Given the description of an element on the screen output the (x, y) to click on. 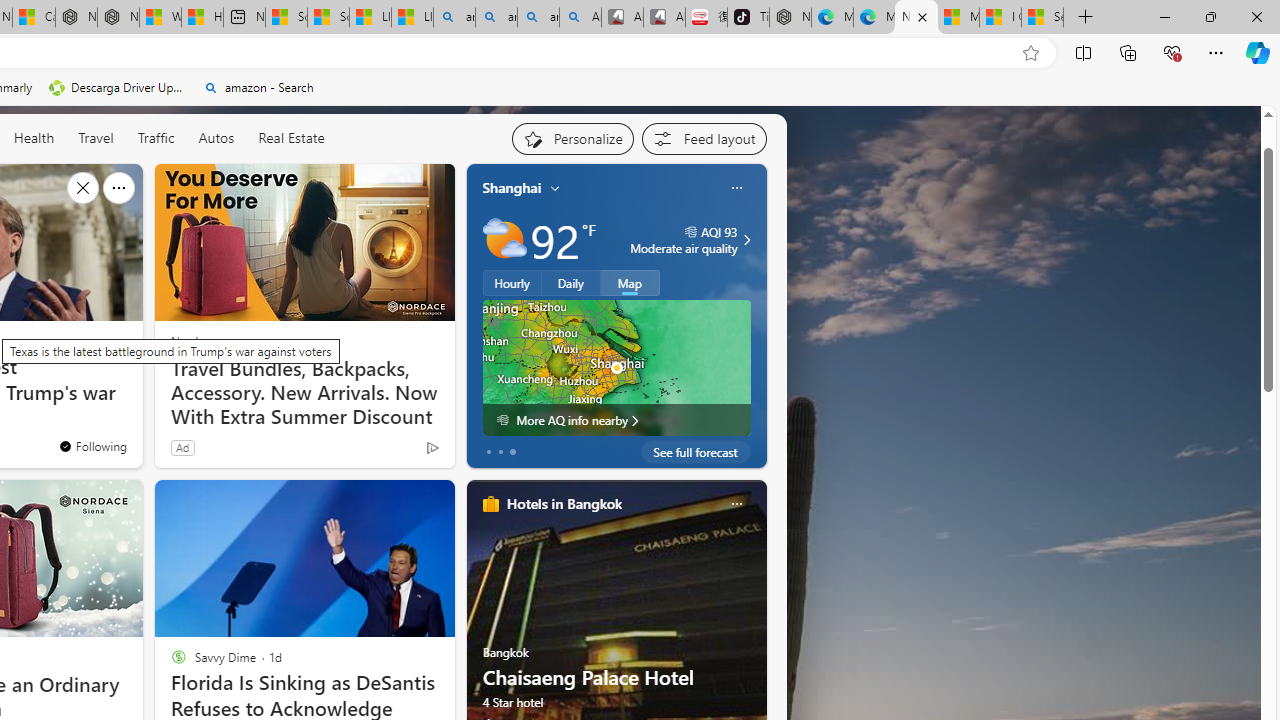
Health (33, 138)
Descarga Driver Updater (118, 88)
hotels-header-icon (490, 503)
Autos (216, 138)
You're following MSNBC (92, 445)
tab-0 (488, 451)
Personalize your feed" (571, 138)
